Given the description of an element on the screen output the (x, y) to click on. 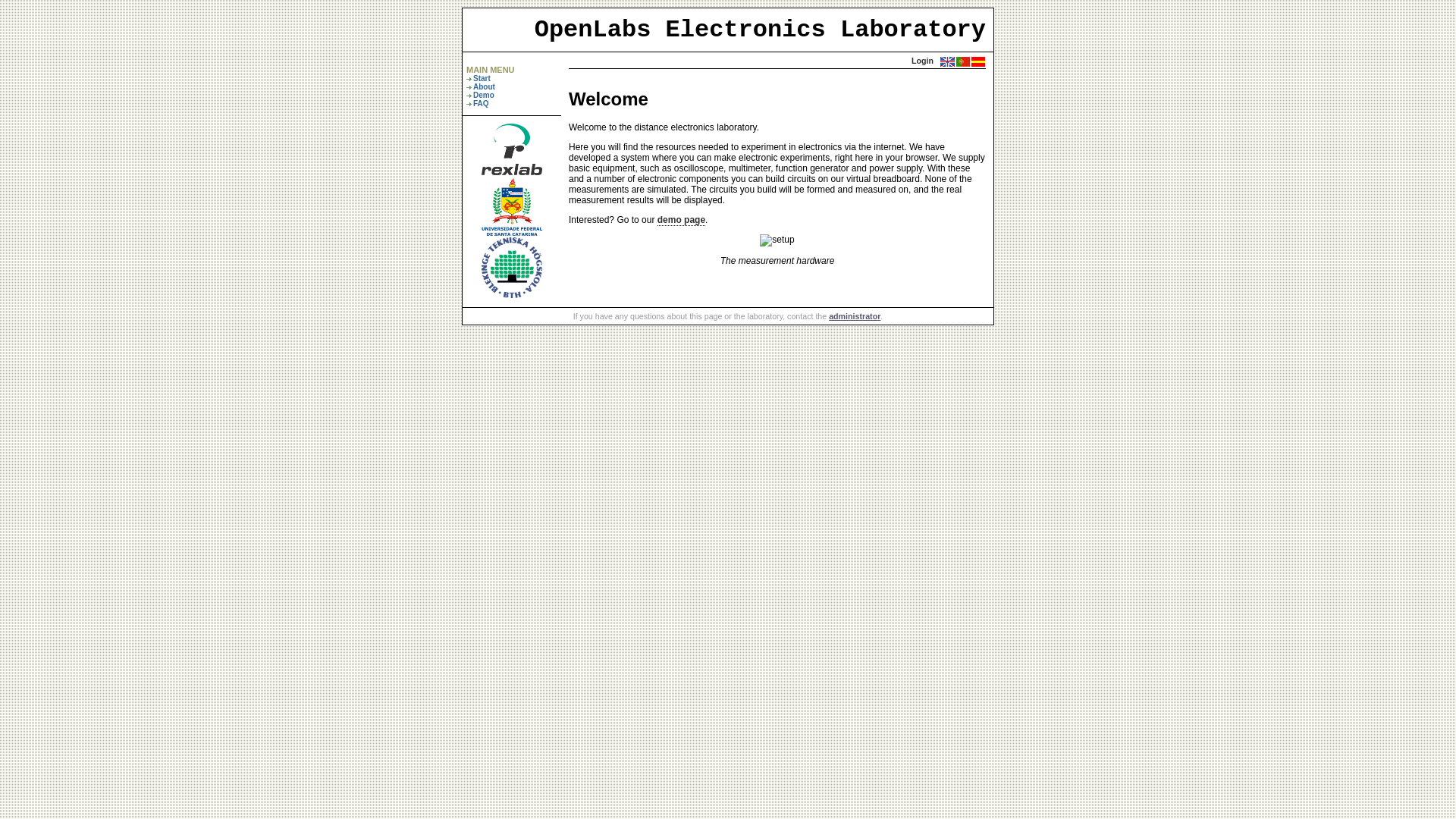
Login Element type: text (922, 60)
MAIN MENU Element type: text (490, 69)
Start Element type: text (481, 78)
FAQ Element type: text (481, 103)
administrator Element type: text (854, 315)
About Element type: text (484, 86)
Demo Element type: text (483, 95)
demo page Element type: text (681, 219)
setup Element type: hover (776, 240)
